Given the description of an element on the screen output the (x, y) to click on. 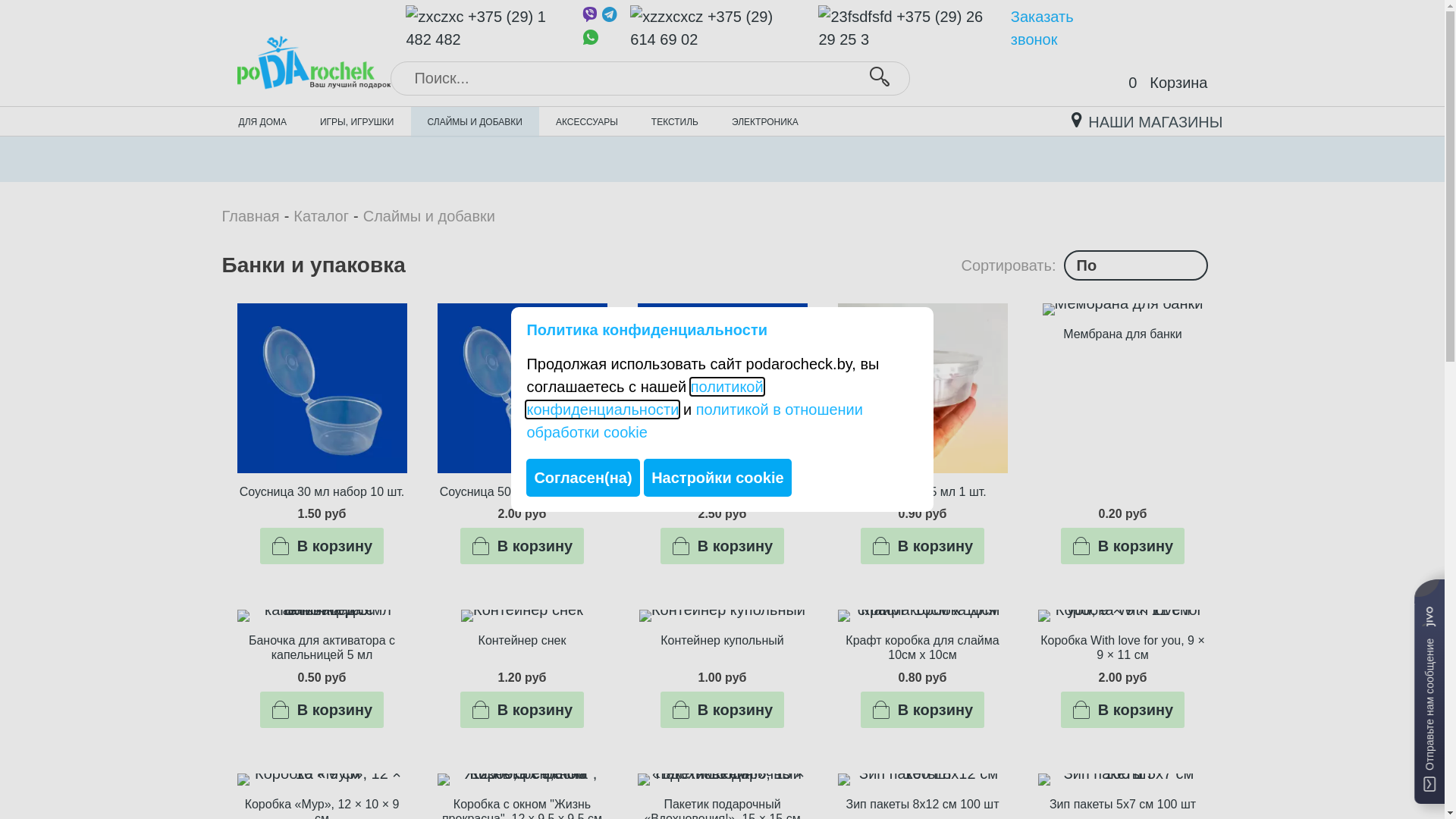
+375 (29) 614 69 02 Element type: text (714, 27)
+375 (29) 26 29 25 3 Element type: text (904, 27)
+375 (29) 1 482 482 Element type: text (483, 27)
